Given the description of an element on the screen output the (x, y) to click on. 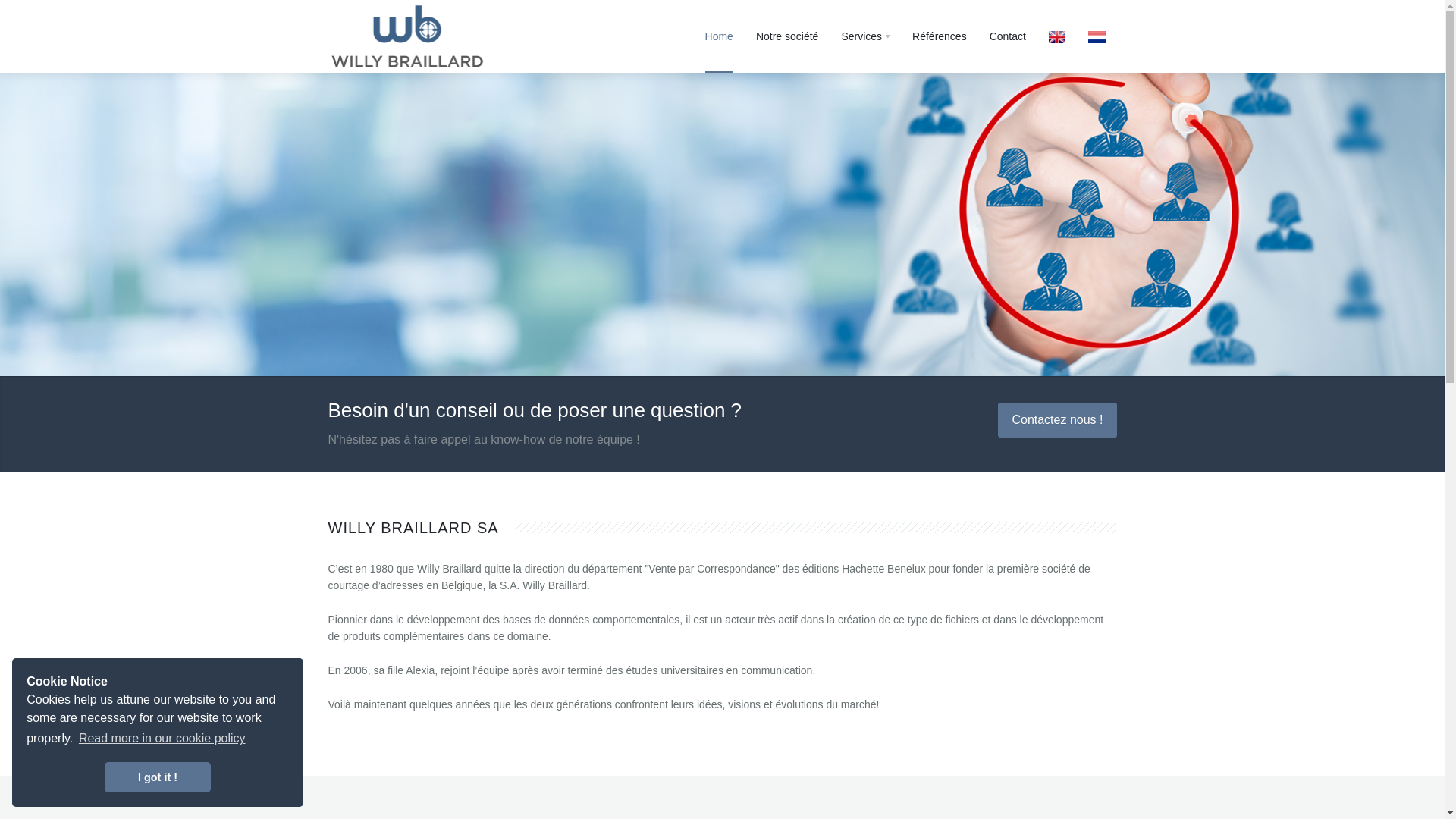
Home Element type: text (718, 36)
Read more in our cookie policy Element type: text (161, 738)
I got it ! Element type: text (157, 777)
Services Element type: text (864, 36)
Contactez nous ! Element type: text (1056, 419)
Contact Element type: text (1007, 36)
